Given the description of an element on the screen output the (x, y) to click on. 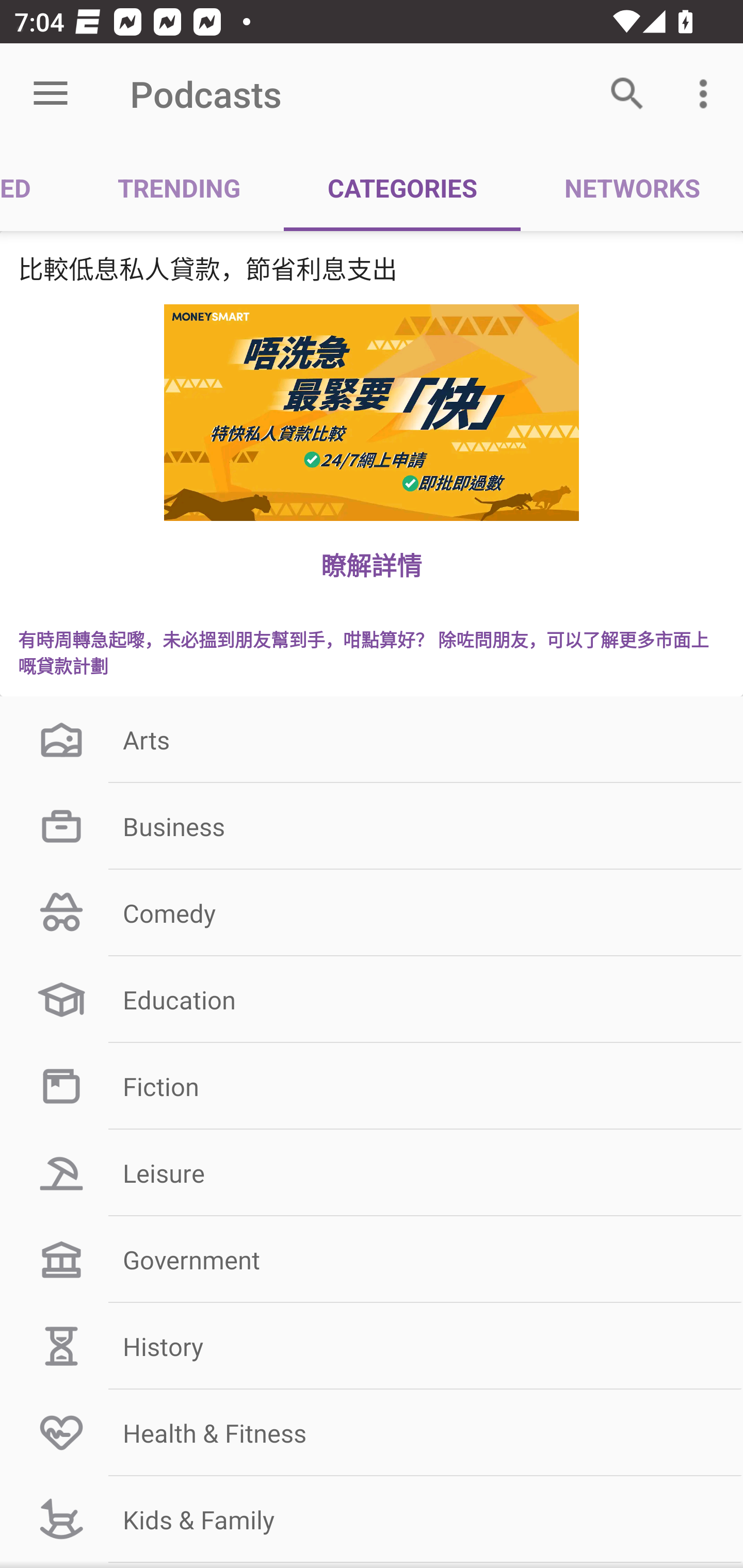
Open menu (50, 93)
Search (626, 93)
More options (706, 93)
TRENDING (178, 187)
CATEGORIES (401, 187)
NETWORKS (631, 187)
比較低息私人貸款，節省利息支出 (371, 267)
瞭解詳情 (371, 564)
有時周轉急起嚟，未必搵到朋友幫到手，咁點算好？ 除咗問朋友，可以了解更多市面上嘅貸款計劃 (371, 651)
Arts (371, 739)
Business (371, 826)
Comedy (371, 913)
Education (371, 999)
Fiction (371, 1085)
Leisure (371, 1172)
Government (371, 1259)
History (371, 1346)
Health & Fitness (371, 1432)
Kids & Family (371, 1519)
